Given the description of an element on the screen output the (x, y) to click on. 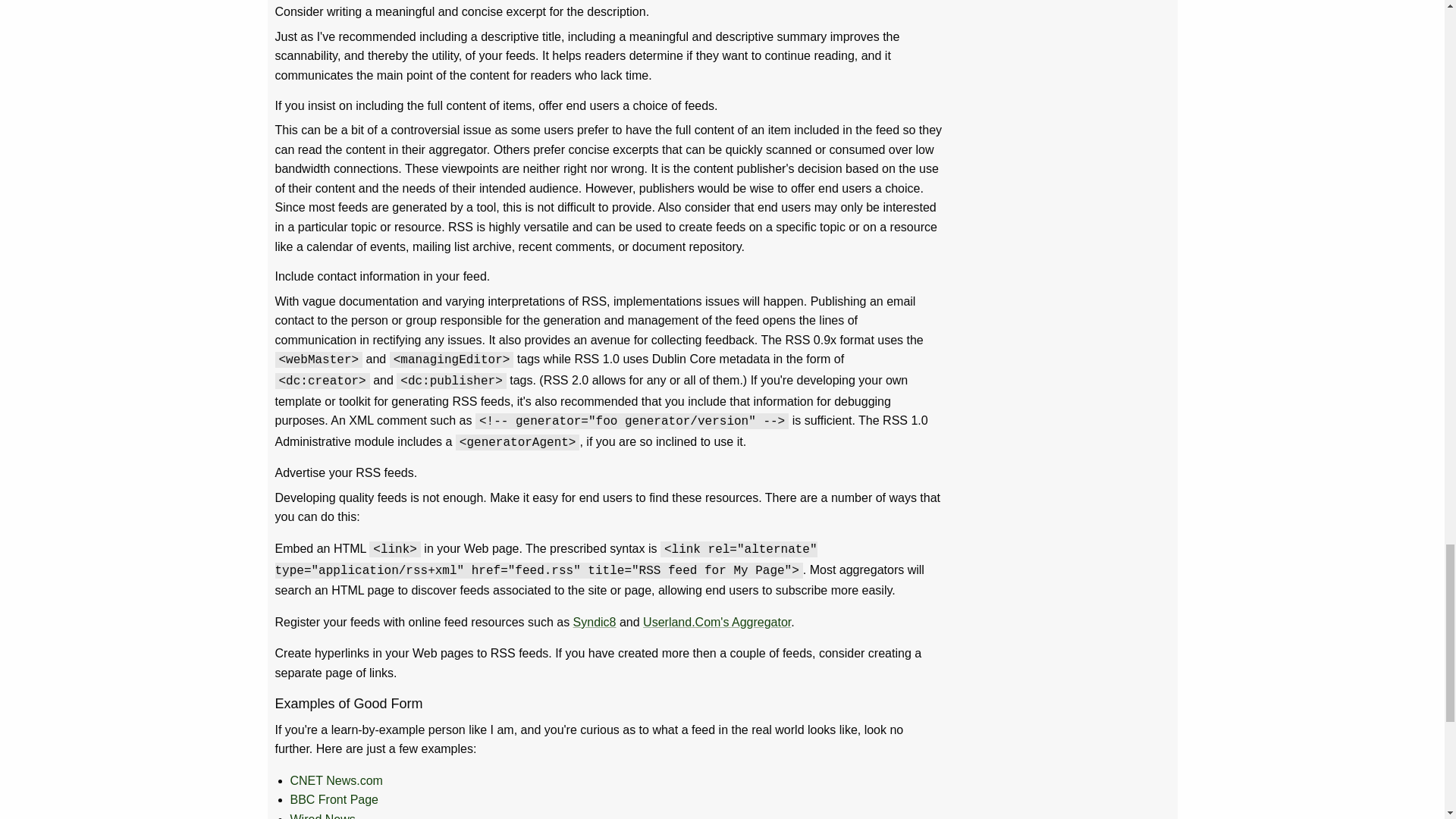
Syndic8 (594, 621)
CNET News.com (335, 780)
Wired News (322, 816)
BBC Front Page (333, 799)
Userland.Com's Aggregator (716, 621)
